Given the description of an element on the screen output the (x, y) to click on. 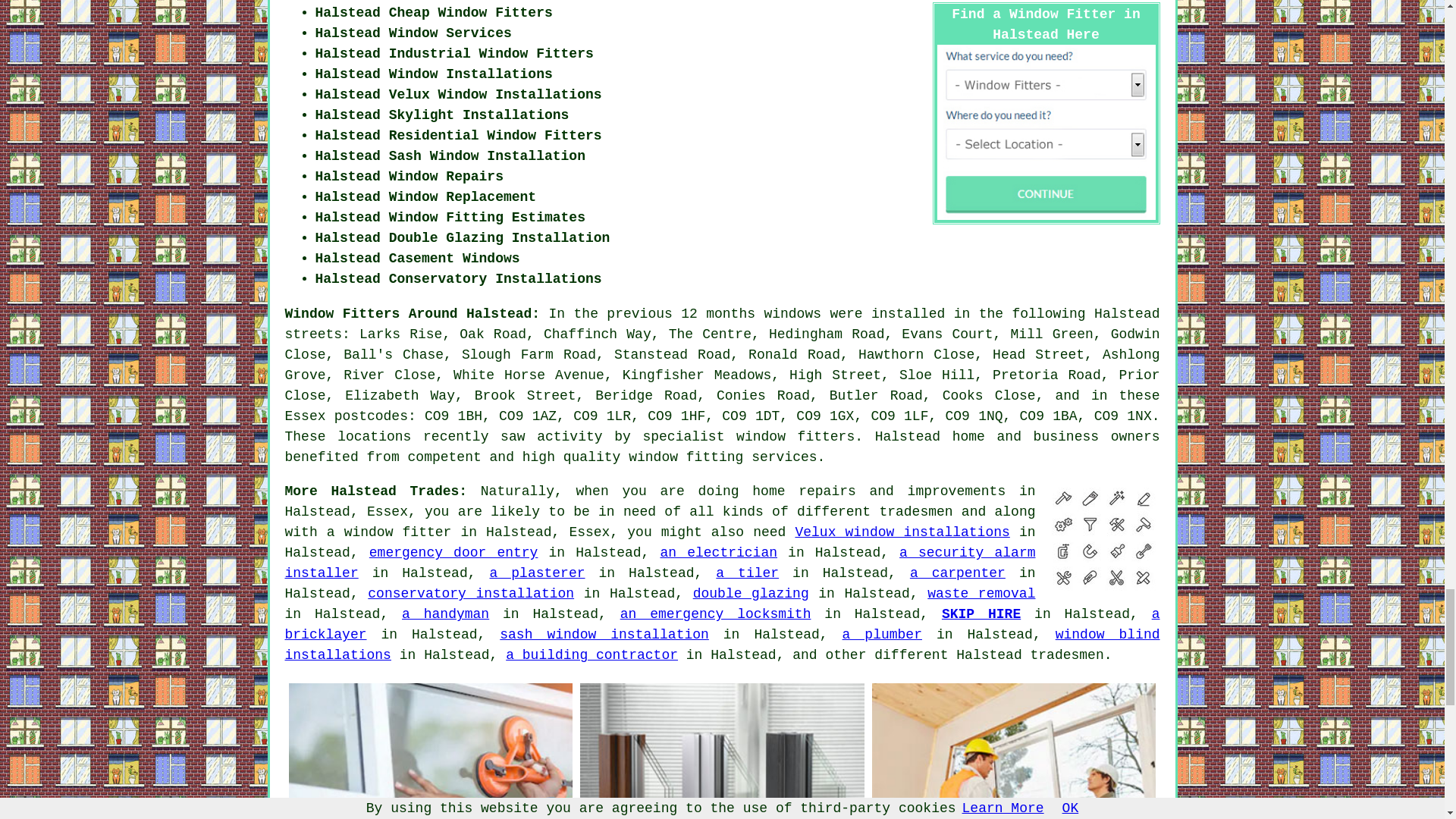
More Halstead Tradesmen (1103, 538)
Window Installation Near Me Halstead (721, 751)
Window Fitters Halstead (430, 751)
Window Installers Halstead UK (1014, 751)
